Given the description of an element on the screen output the (x, y) to click on. 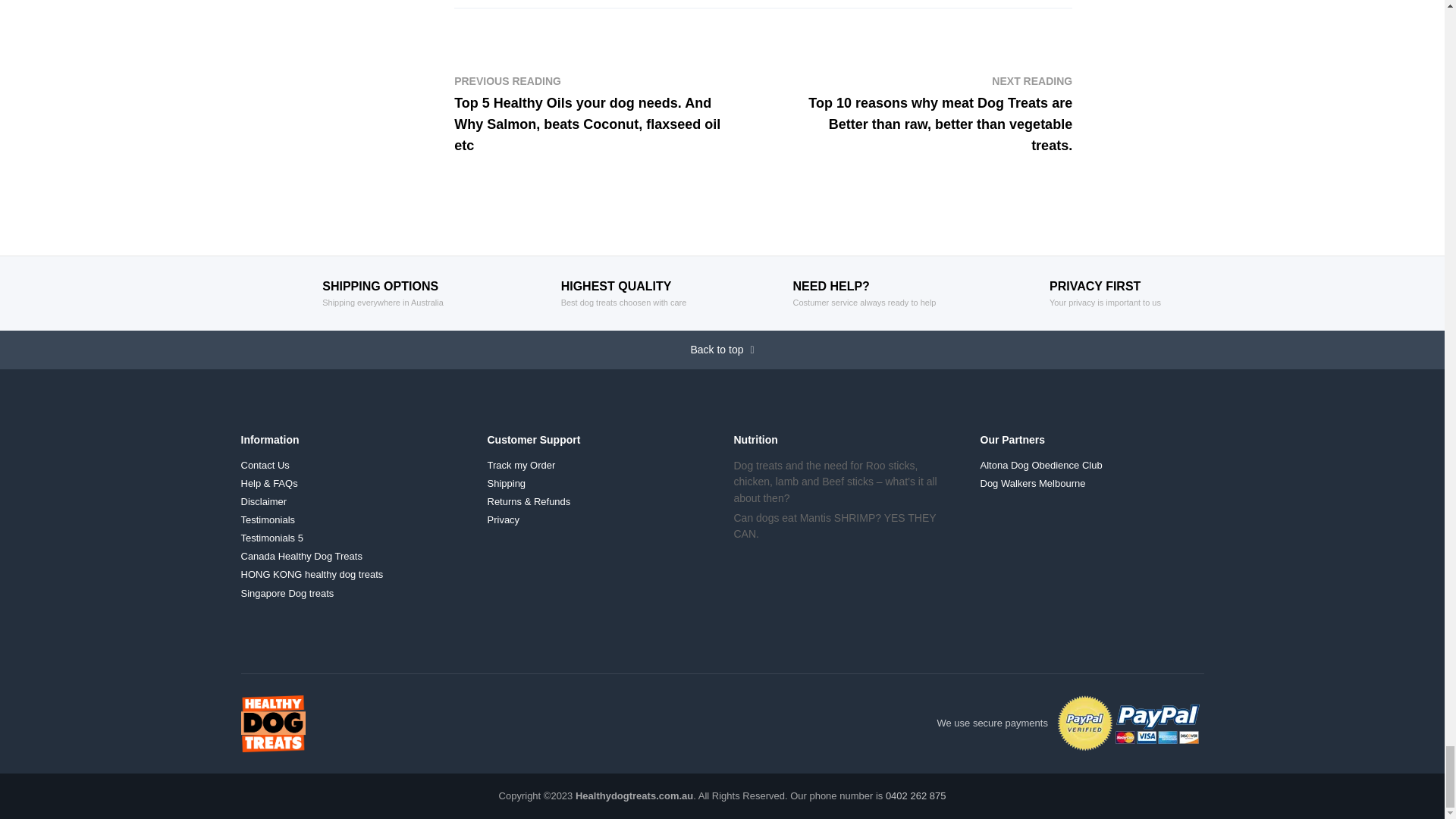
Call Us 0402 262 875 (915, 795)
